Given the description of an element on the screen output the (x, y) to click on. 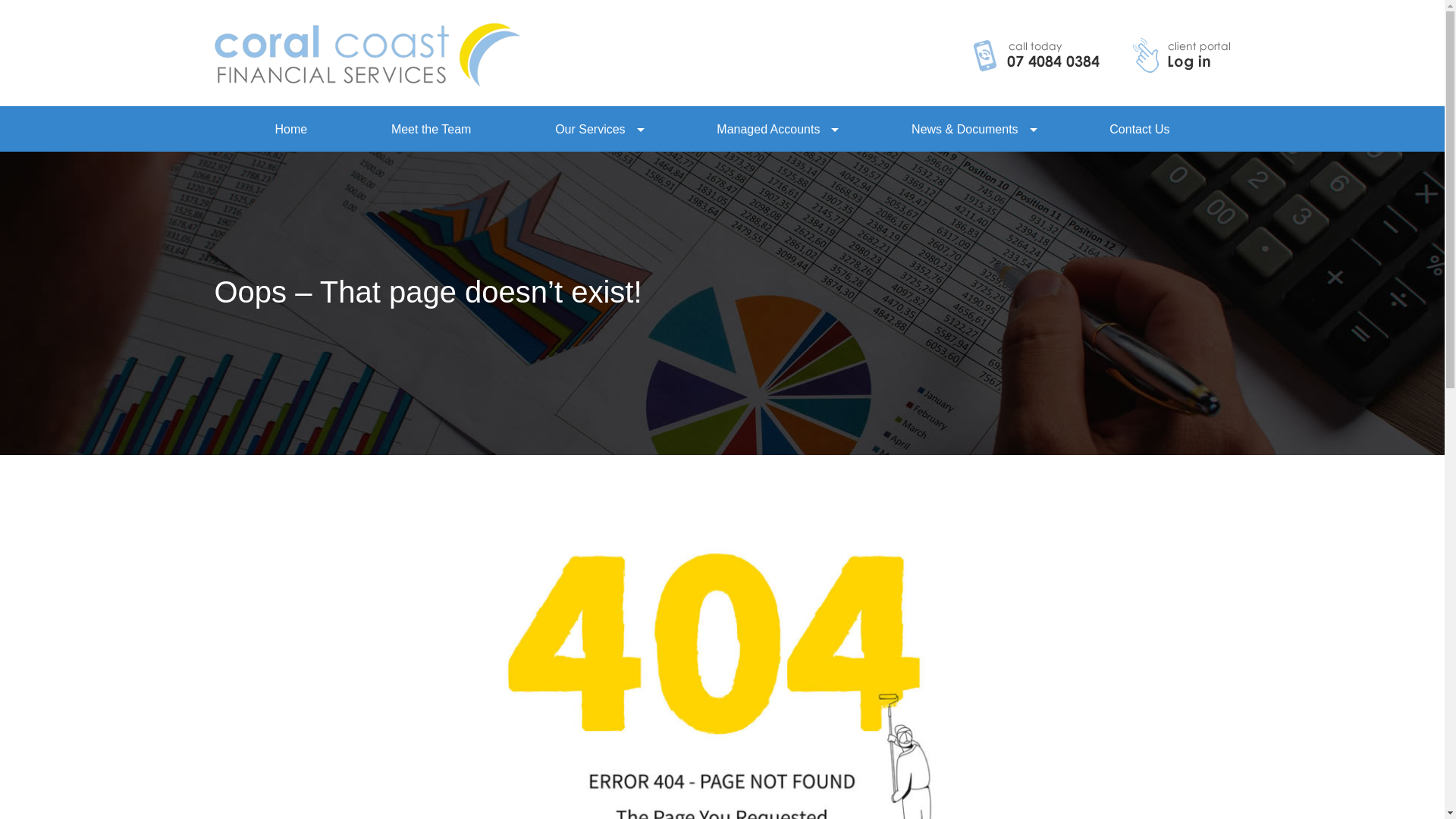
Home Element type: text (290, 128)
Our Services Element type: text (589, 128)
News & Documents Element type: text (964, 128)
Managed Accounts Element type: text (767, 128)
Meet the Team Element type: text (431, 128)
Contact Us Element type: text (1139, 128)
